Given the description of an element on the screen output the (x, y) to click on. 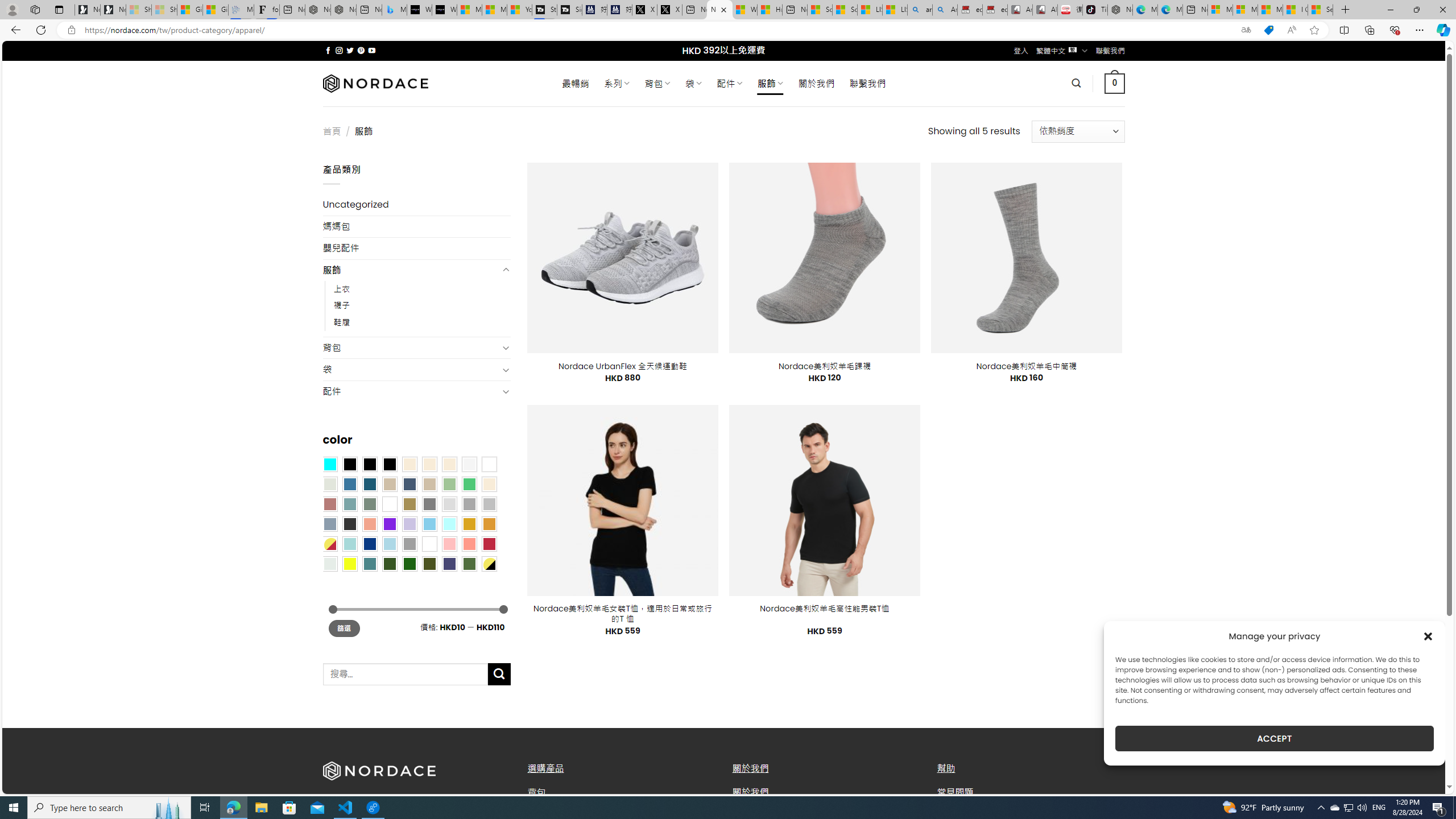
Dull Nickle (329, 563)
